Given the description of an element on the screen output the (x, y) to click on. 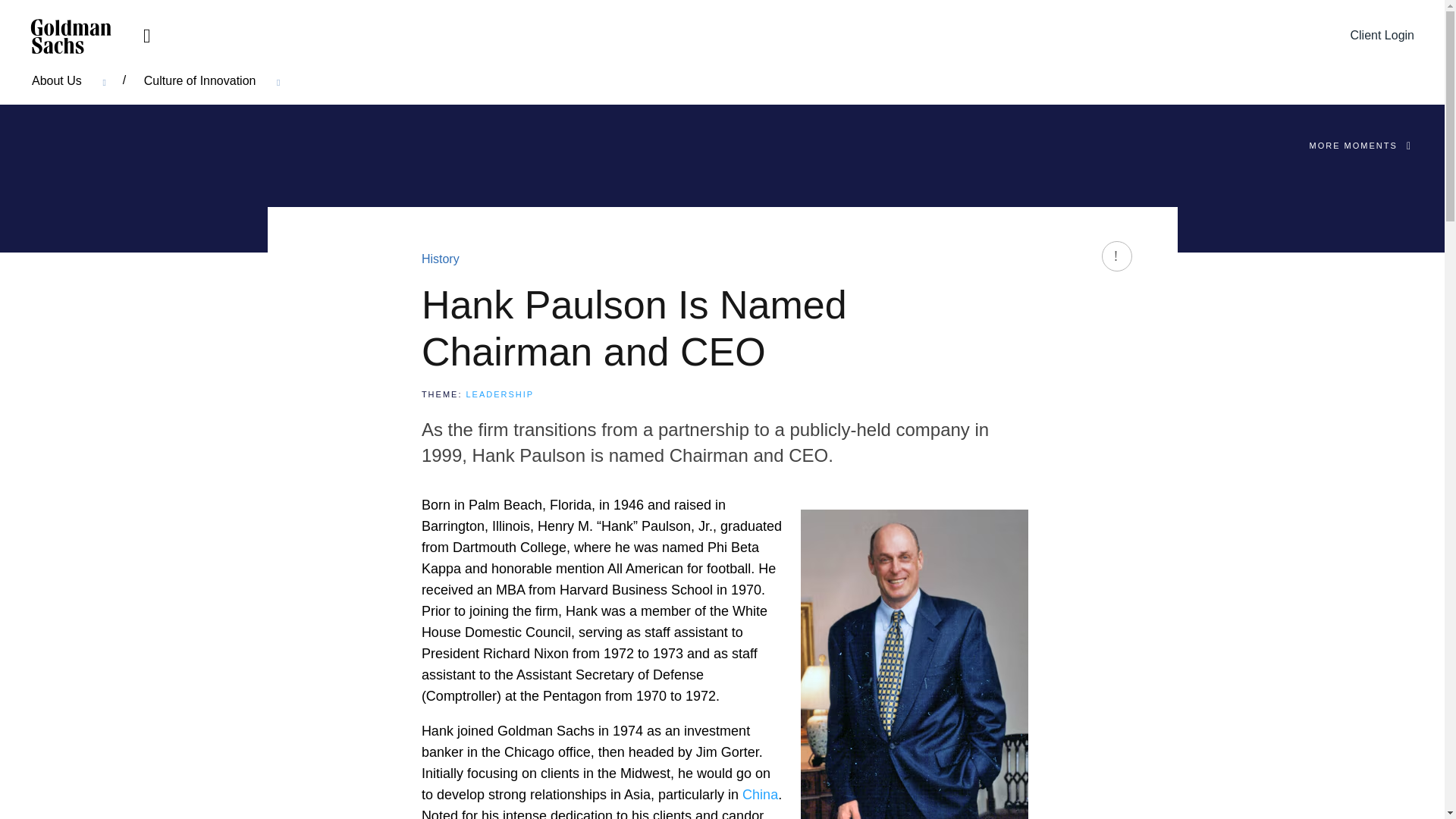
Culture of Innovation (212, 80)
Client Login (1377, 36)
About Us (69, 80)
